Given the description of an element on the screen output the (x, y) to click on. 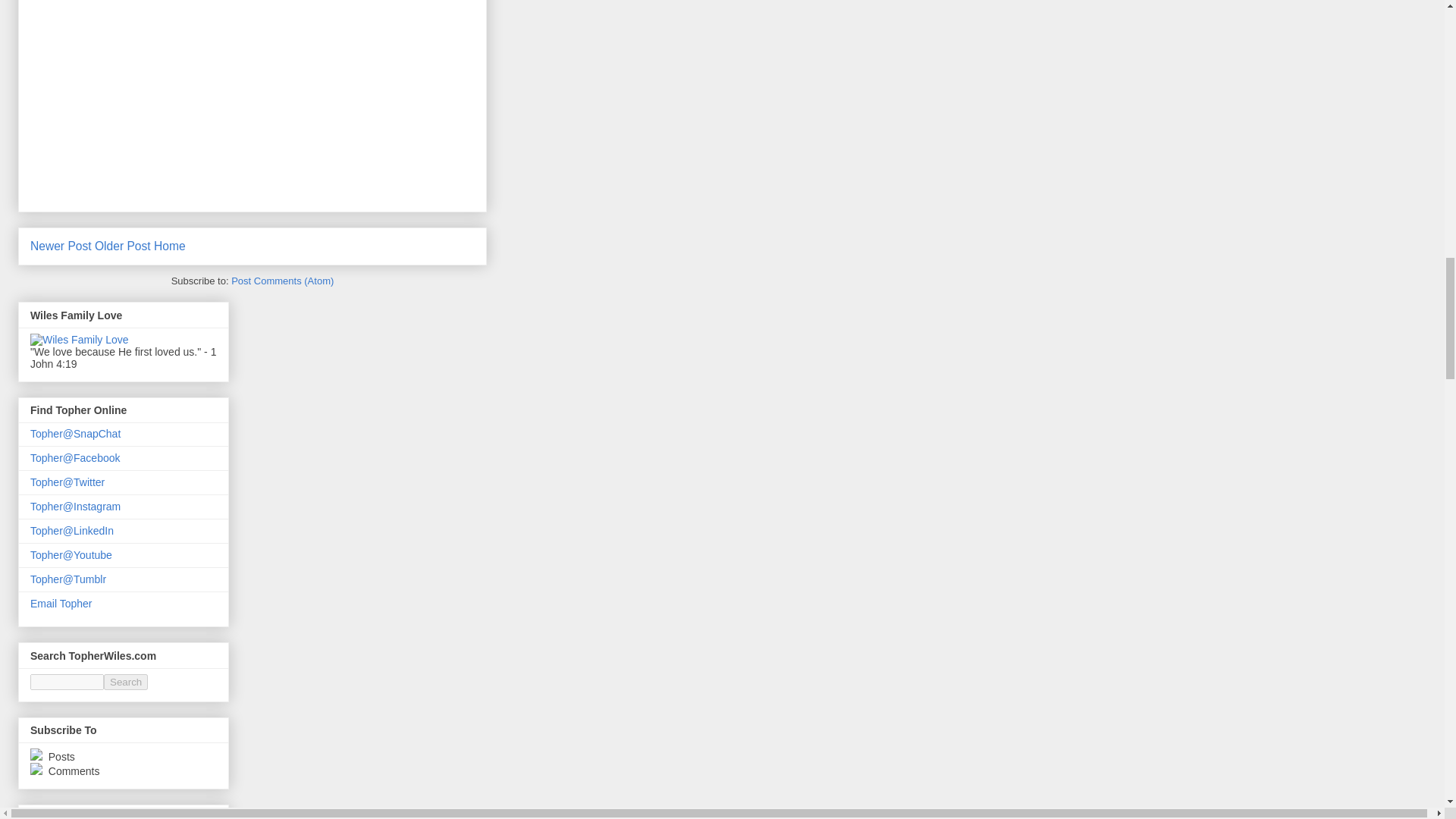
Newer Post (60, 245)
Search (125, 682)
Search (125, 682)
Newer Post (60, 245)
Older Post (122, 245)
Home (170, 245)
Older Post (122, 245)
Search (125, 682)
search (125, 682)
search (66, 682)
Email Topher (60, 603)
